Given the description of an element on the screen output the (x, y) to click on. 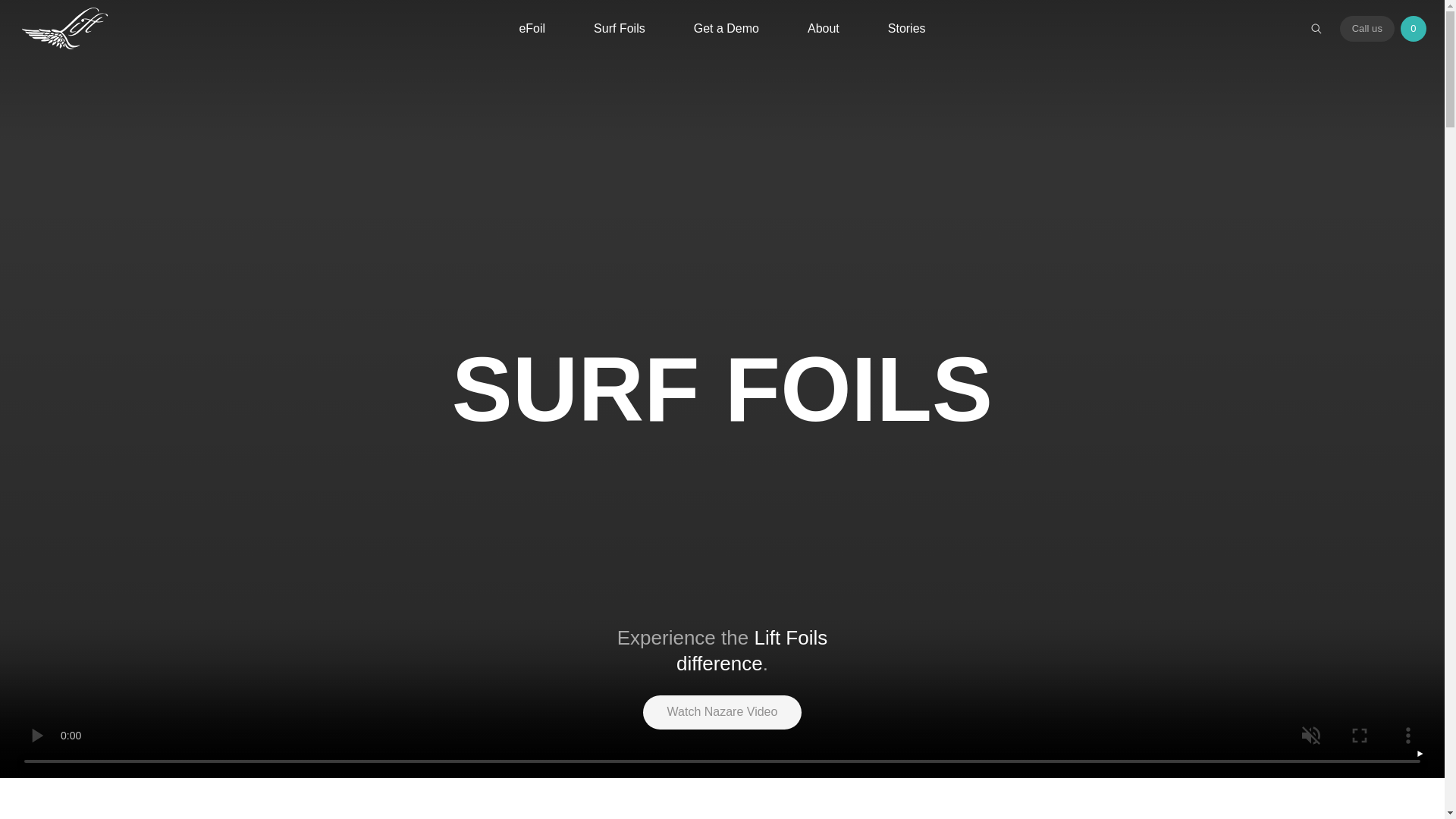
About (822, 28)
Get a Demo (726, 28)
Surf Foils (619, 28)
eFoil (531, 28)
Stories (906, 28)
